Given the description of an element on the screen output the (x, y) to click on. 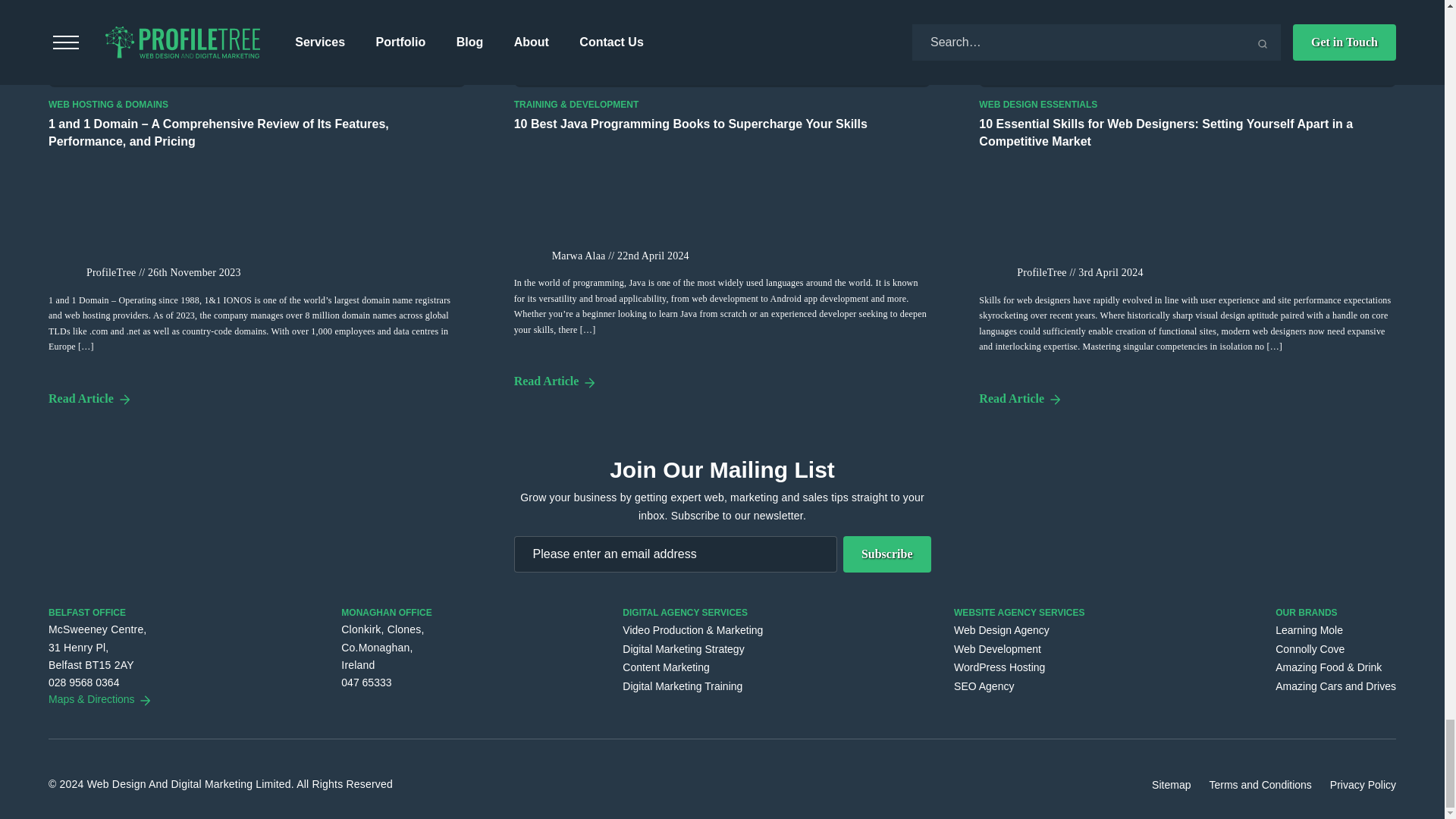
Subscribe (887, 554)
